Given the description of an element on the screen output the (x, y) to click on. 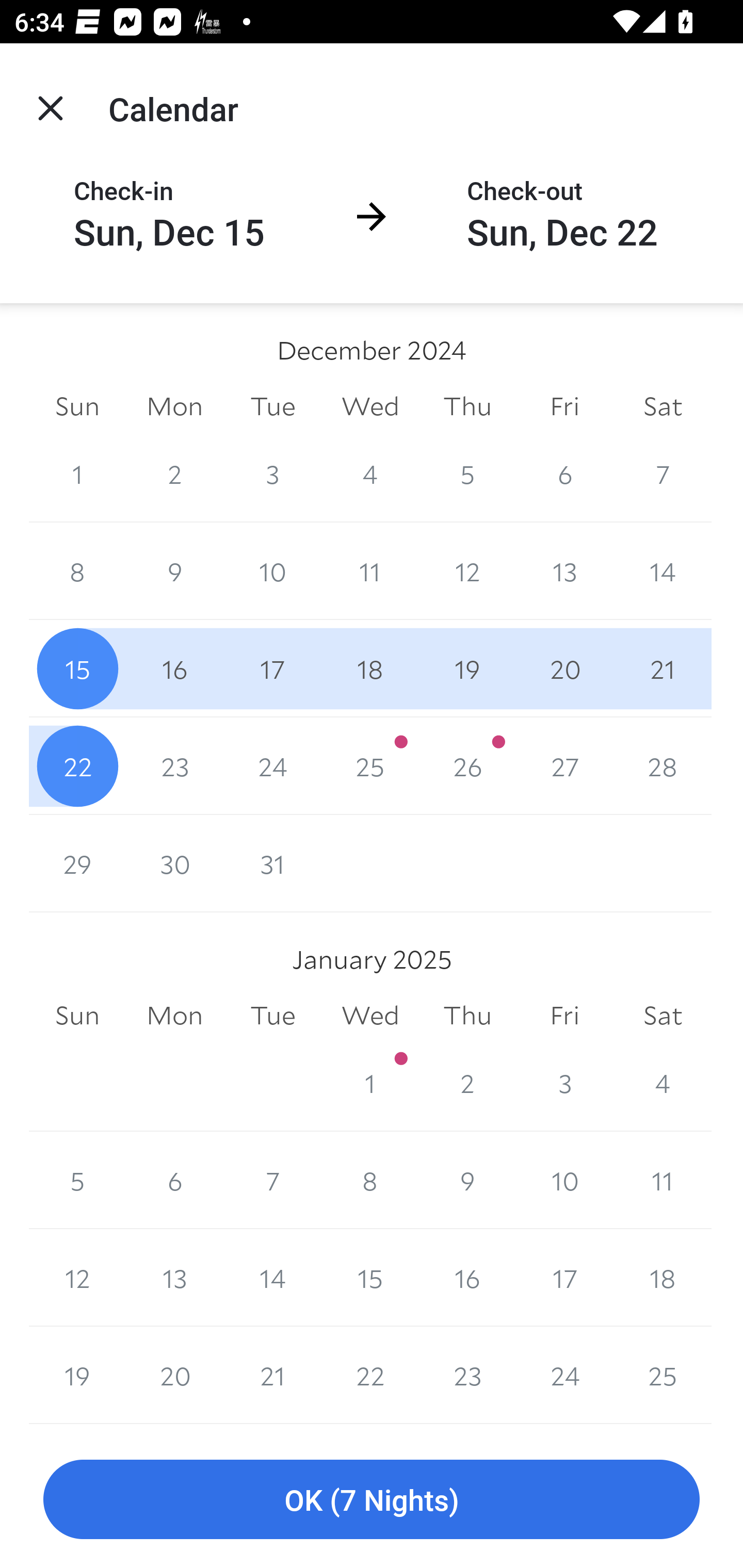
Sun (77, 405)
Mon (174, 405)
Tue (272, 405)
Wed (370, 405)
Thu (467, 405)
Fri (564, 405)
Sat (662, 405)
1 1 December 2024 (77, 473)
2 2 December 2024 (174, 473)
3 3 December 2024 (272, 473)
4 4 December 2024 (370, 473)
5 5 December 2024 (467, 473)
6 6 December 2024 (564, 473)
7 7 December 2024 (662, 473)
8 8 December 2024 (77, 570)
9 9 December 2024 (174, 570)
10 10 December 2024 (272, 570)
11 11 December 2024 (370, 570)
12 12 December 2024 (467, 570)
13 13 December 2024 (564, 570)
14 14 December 2024 (662, 570)
15 15 December 2024 (77, 668)
16 16 December 2024 (174, 668)
17 17 December 2024 (272, 668)
18 18 December 2024 (370, 668)
19 19 December 2024 (467, 668)
20 20 December 2024 (564, 668)
21 21 December 2024 (662, 668)
22 22 December 2024 (77, 766)
23 23 December 2024 (174, 766)
24 24 December 2024 (272, 766)
25 25 December 2024 (370, 766)
26 26 December 2024 (467, 766)
27 27 December 2024 (564, 766)
28 28 December 2024 (662, 766)
29 29 December 2024 (77, 863)
30 30 December 2024 (174, 863)
31 31 December 2024 (272, 863)
Sun (77, 1015)
Mon (174, 1015)
Tue (272, 1015)
Wed (370, 1015)
Thu (467, 1015)
Fri (564, 1015)
Sat (662, 1015)
1 1 January 2025 (370, 1083)
2 2 January 2025 (467, 1083)
3 3 January 2025 (564, 1083)
4 4 January 2025 (662, 1083)
5 5 January 2025 (77, 1180)
6 6 January 2025 (174, 1180)
7 7 January 2025 (272, 1180)
8 8 January 2025 (370, 1180)
9 9 January 2025 (467, 1180)
10 10 January 2025 (564, 1180)
11 11 January 2025 (662, 1180)
12 12 January 2025 (77, 1277)
13 13 January 2025 (174, 1277)
14 14 January 2025 (272, 1277)
15 15 January 2025 (370, 1277)
16 16 January 2025 (467, 1277)
17 17 January 2025 (564, 1277)
18 18 January 2025 (662, 1277)
19 19 January 2025 (77, 1374)
20 20 January 2025 (174, 1374)
21 21 January 2025 (272, 1374)
22 22 January 2025 (370, 1374)
23 23 January 2025 (467, 1374)
24 24 January 2025 (564, 1374)
25 25 January 2025 (662, 1374)
OK (7 Nights) (371, 1499)
